Given the description of an element on the screen output the (x, y) to click on. 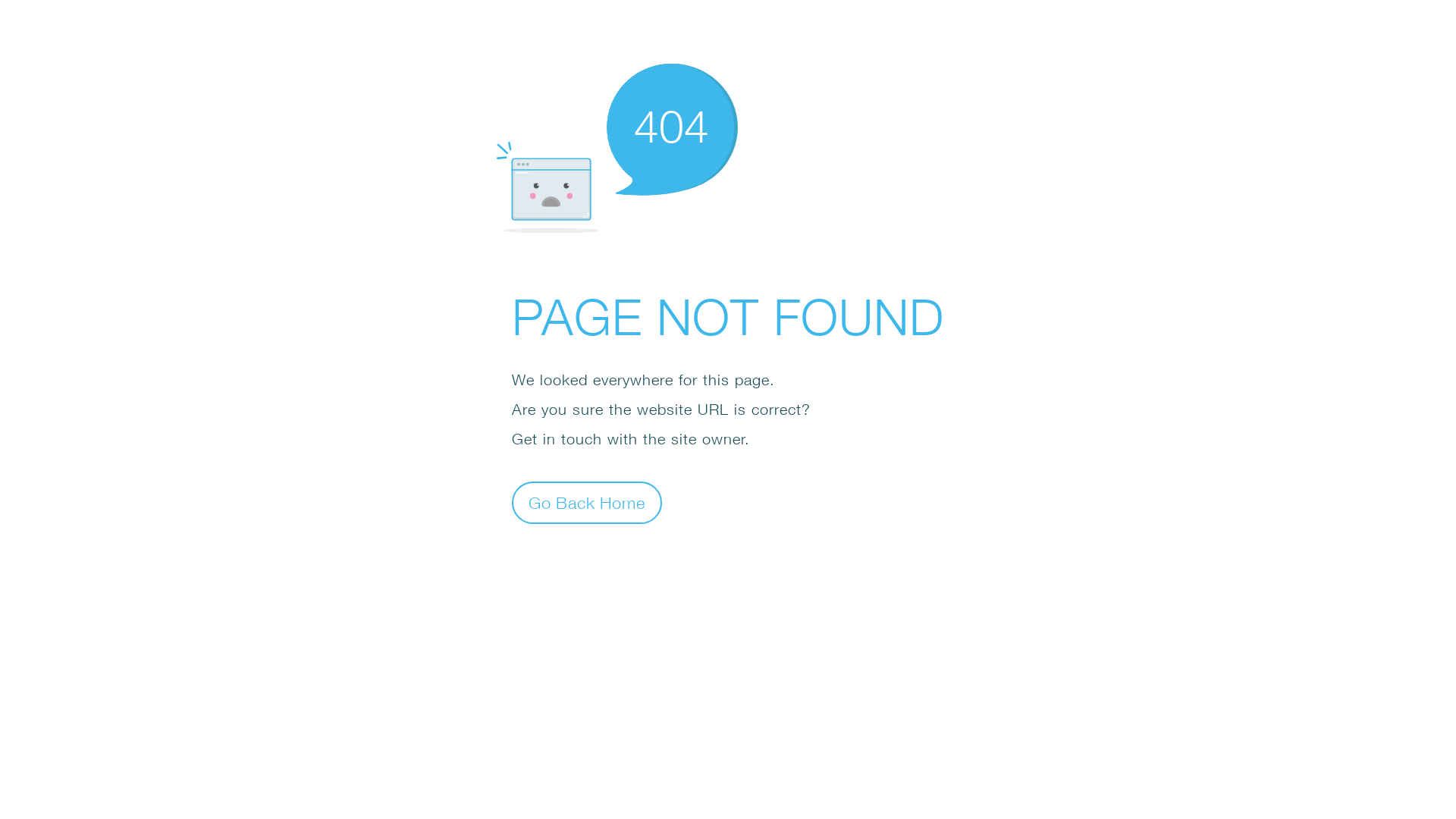
Go Back Home Element type: text (586, 502)
